Given the description of an element on the screen output the (x, y) to click on. 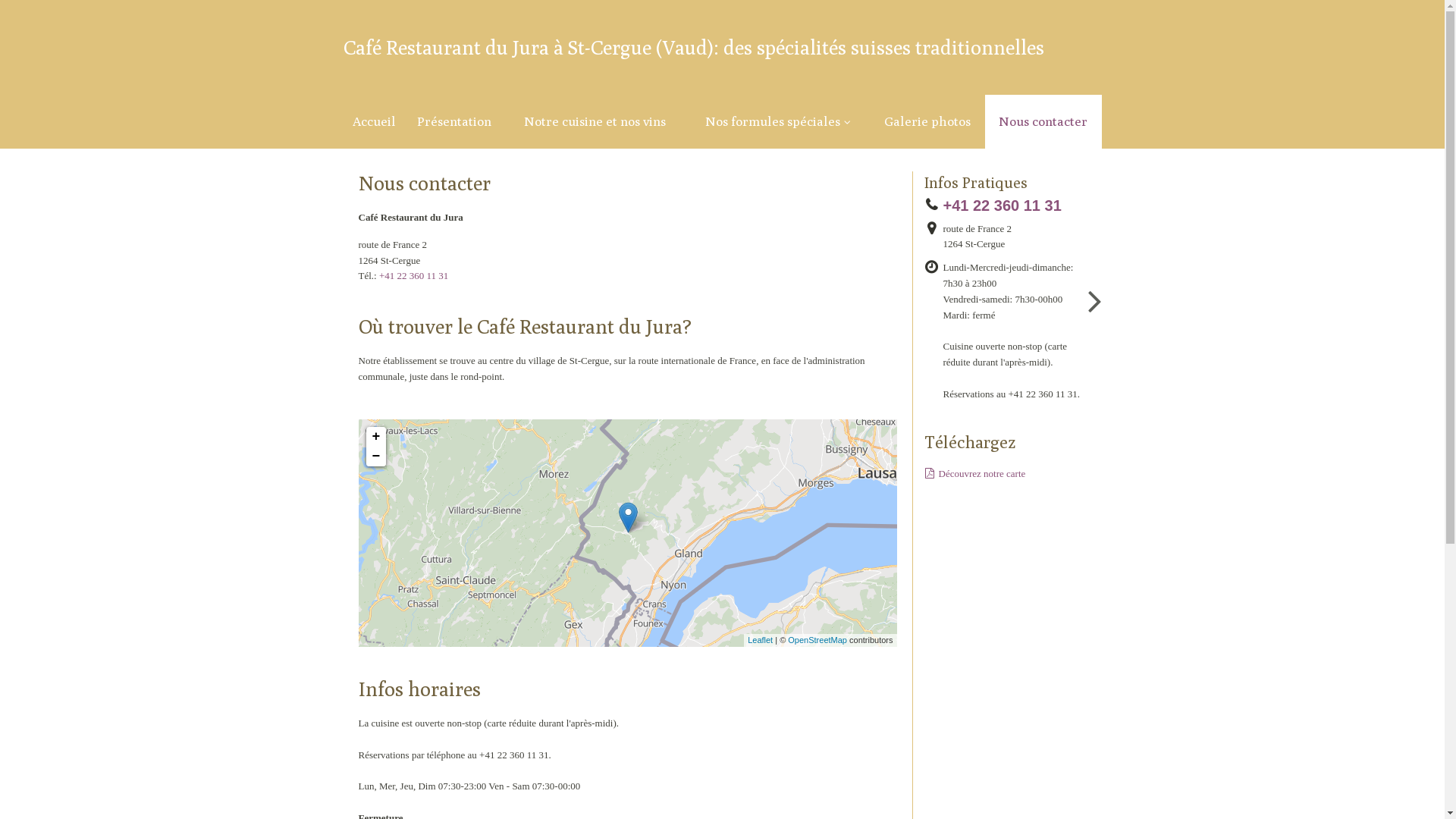
Leaflet Element type: text (759, 639)
+41 22 360 11 31 Element type: text (1006, 205)
+41 22 360 11 31 Element type: text (413, 275)
+ Element type: text (375, 436)
Nous contacter Element type: text (1043, 121)
Galerie photos Element type: text (927, 121)
OpenStreetMap Element type: text (817, 639)
Notre cuisine et nos vins Element type: text (594, 121)
Accueil Element type: text (373, 121)
